Given the description of an element on the screen output the (x, y) to click on. 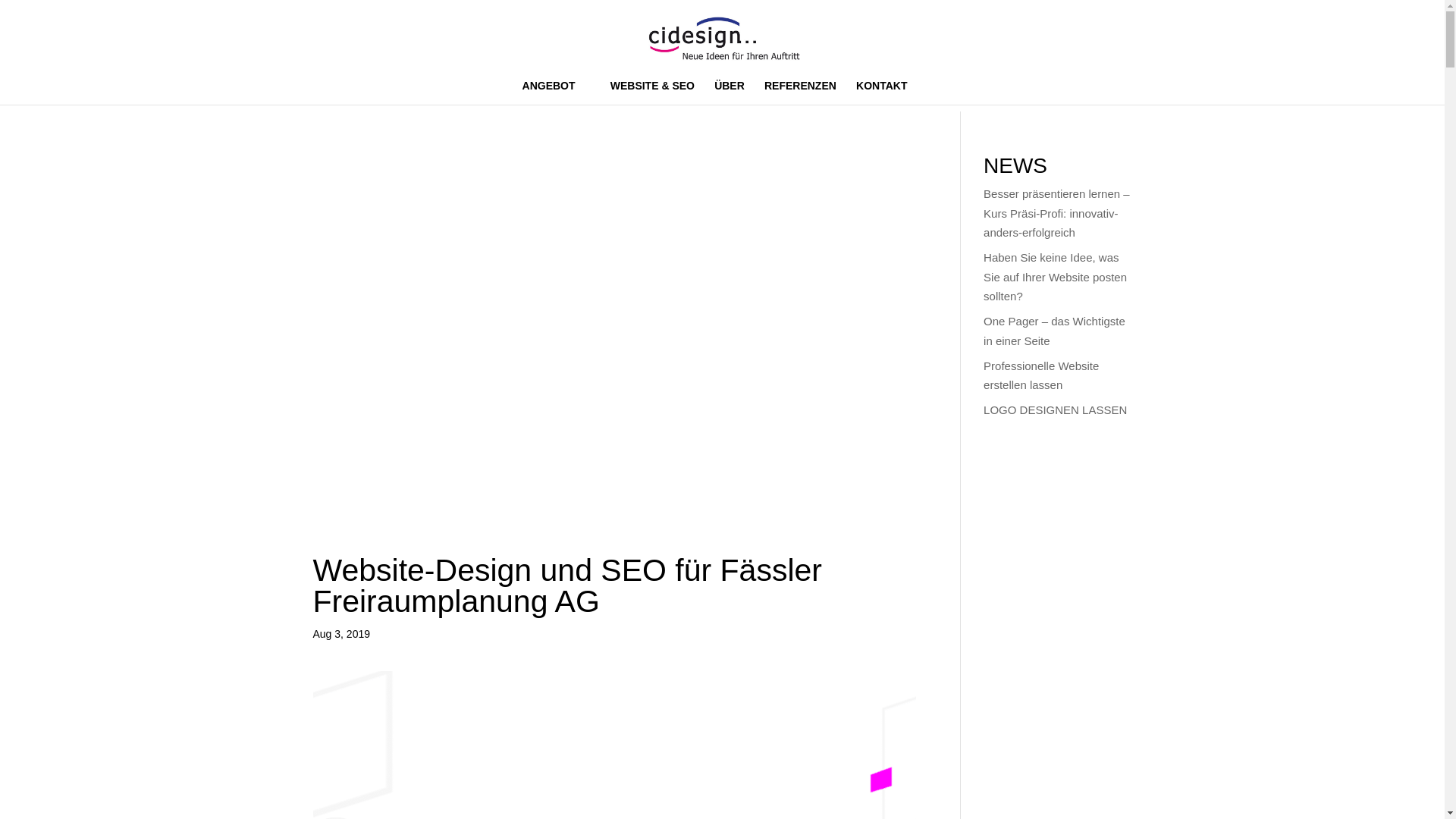
ANGEBOT Element type: text (556, 92)
REFERENZEN Element type: text (800, 92)
LOGO DESIGNEN LASSEN Element type: text (1054, 409)
KONTAKT Element type: text (889, 92)
Professionelle Website erstellen lassen Element type: text (1040, 375)
WEBSITE & SEO Element type: text (652, 92)
